Given the description of an element on the screen output the (x, y) to click on. 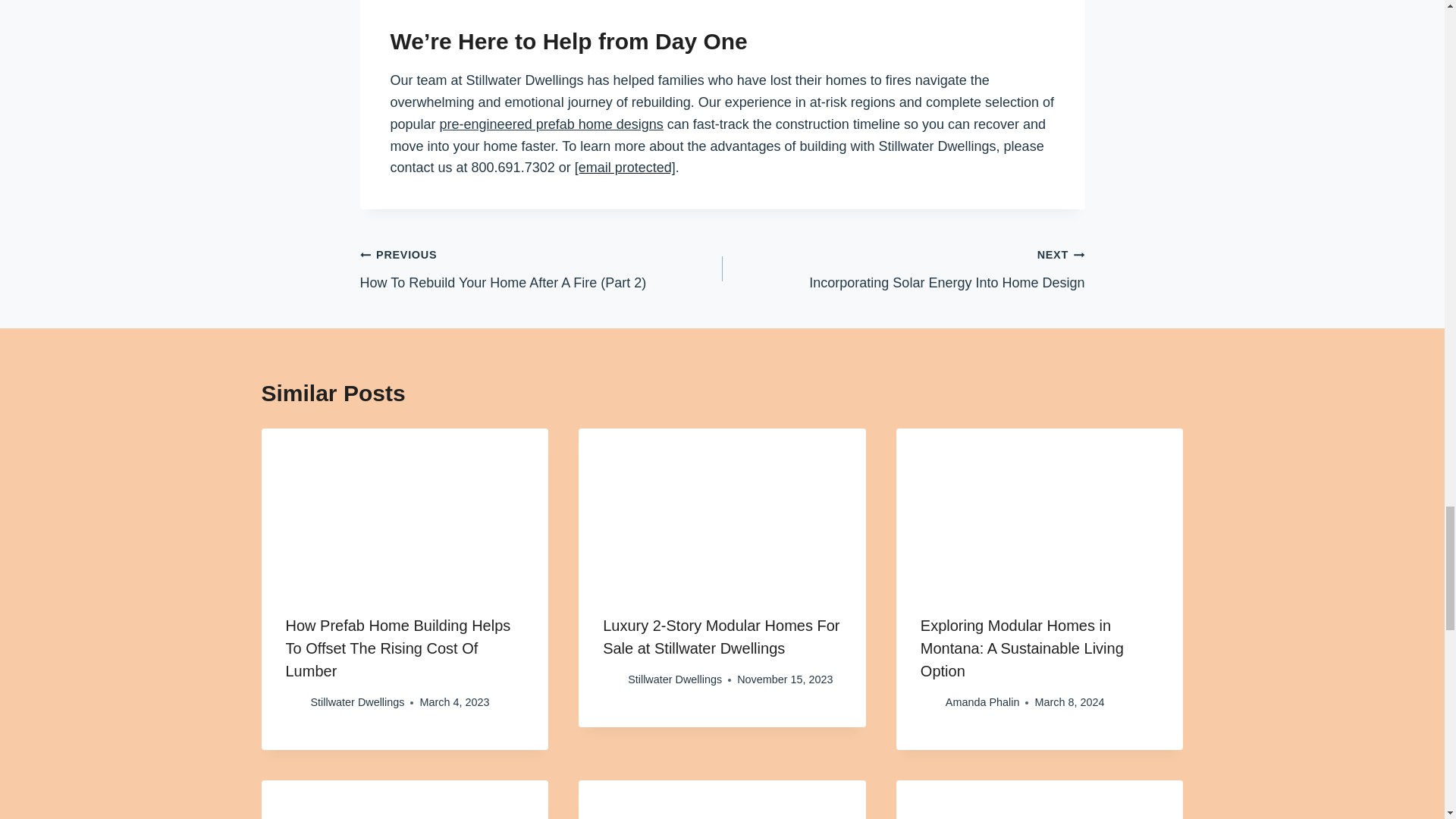
 - Stillwater Dwellings (1039, 508)
Luxury Modular Homes: Louisiana - Stillwater Dwellings (404, 799)
